Given the description of an element on the screen output the (x, y) to click on. 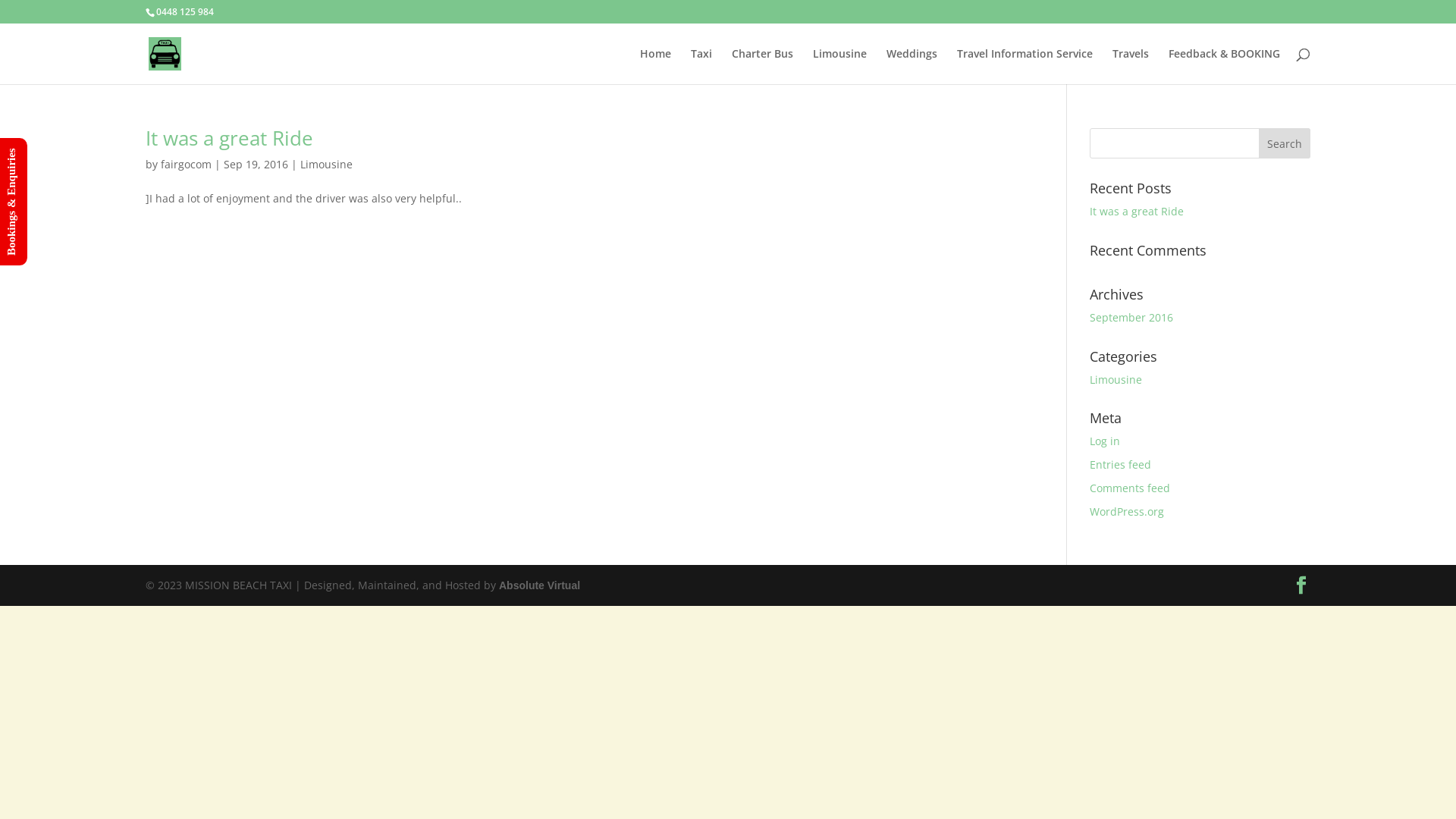
Travel Information Service Element type: text (1024, 66)
Taxi Element type: text (701, 66)
Search Element type: text (1284, 143)
Log in Element type: text (1104, 440)
Limousine Element type: text (1115, 379)
It was a great Ride Element type: text (1136, 210)
Entries feed Element type: text (1120, 464)
Absolute Virtual Element type: text (539, 585)
September 2016 Element type: text (1131, 317)
Limousine Element type: text (839, 66)
Limousine Element type: text (326, 163)
Weddings Element type: text (911, 66)
Feedback & BOOKING Element type: text (1224, 66)
WordPress.org Element type: text (1126, 511)
fairgocom Element type: text (185, 163)
Travels Element type: text (1130, 66)
It was a great Ride Element type: text (229, 137)
Comments feed Element type: text (1129, 487)
Home Element type: text (655, 66)
Charter Bus Element type: text (762, 66)
